Given the description of an element on the screen output the (x, y) to click on. 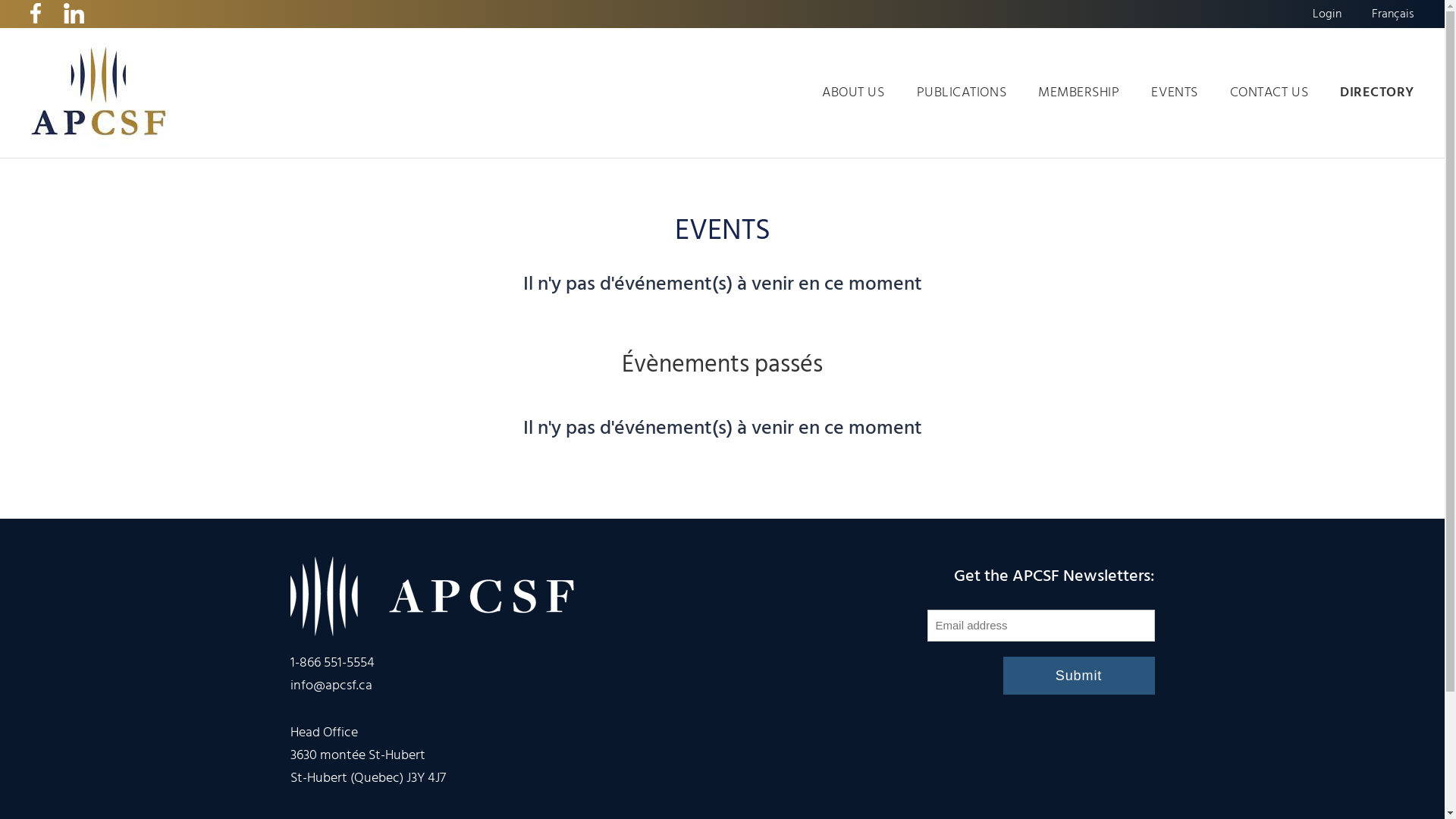
CONTACT US Element type: text (1269, 92)
ABOUT US Element type: text (853, 92)
MEMBERSHIP Element type: text (1078, 92)
EVENTS Element type: text (1174, 92)
info@apcsf.ca Element type: text (330, 685)
DIRECTORY Element type: text (1376, 92)
PUBLICATIONS Element type: text (961, 92)
Submit Element type: text (1078, 675)
Login Element type: text (1326, 15)
